Given the description of an element on the screen output the (x, y) to click on. 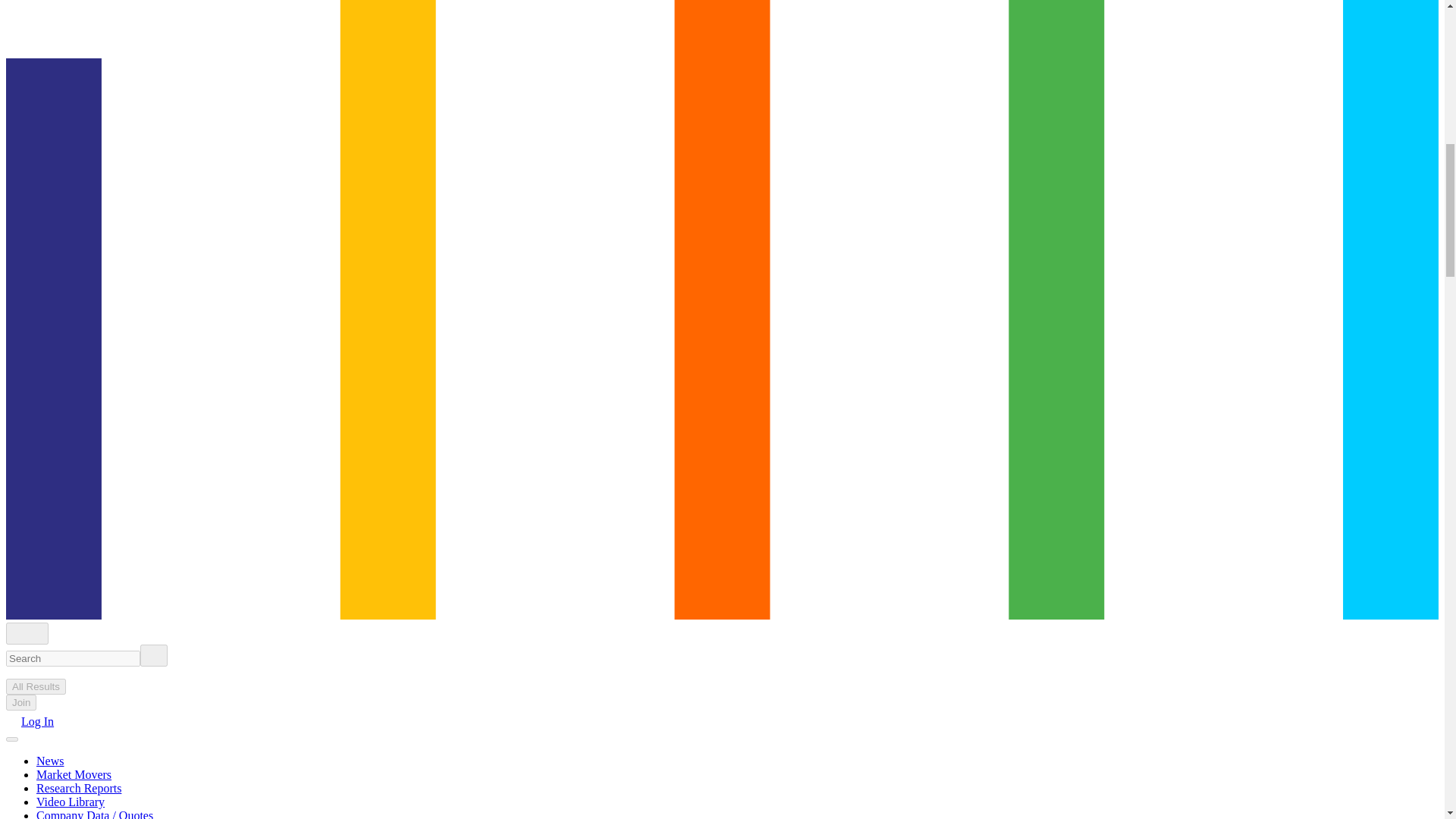
Log In (29, 721)
News (50, 760)
Video Library (70, 801)
Research Reports (78, 788)
Market Movers (74, 774)
Join (20, 702)
All Results (35, 686)
